Given the description of an element on the screen output the (x, y) to click on. 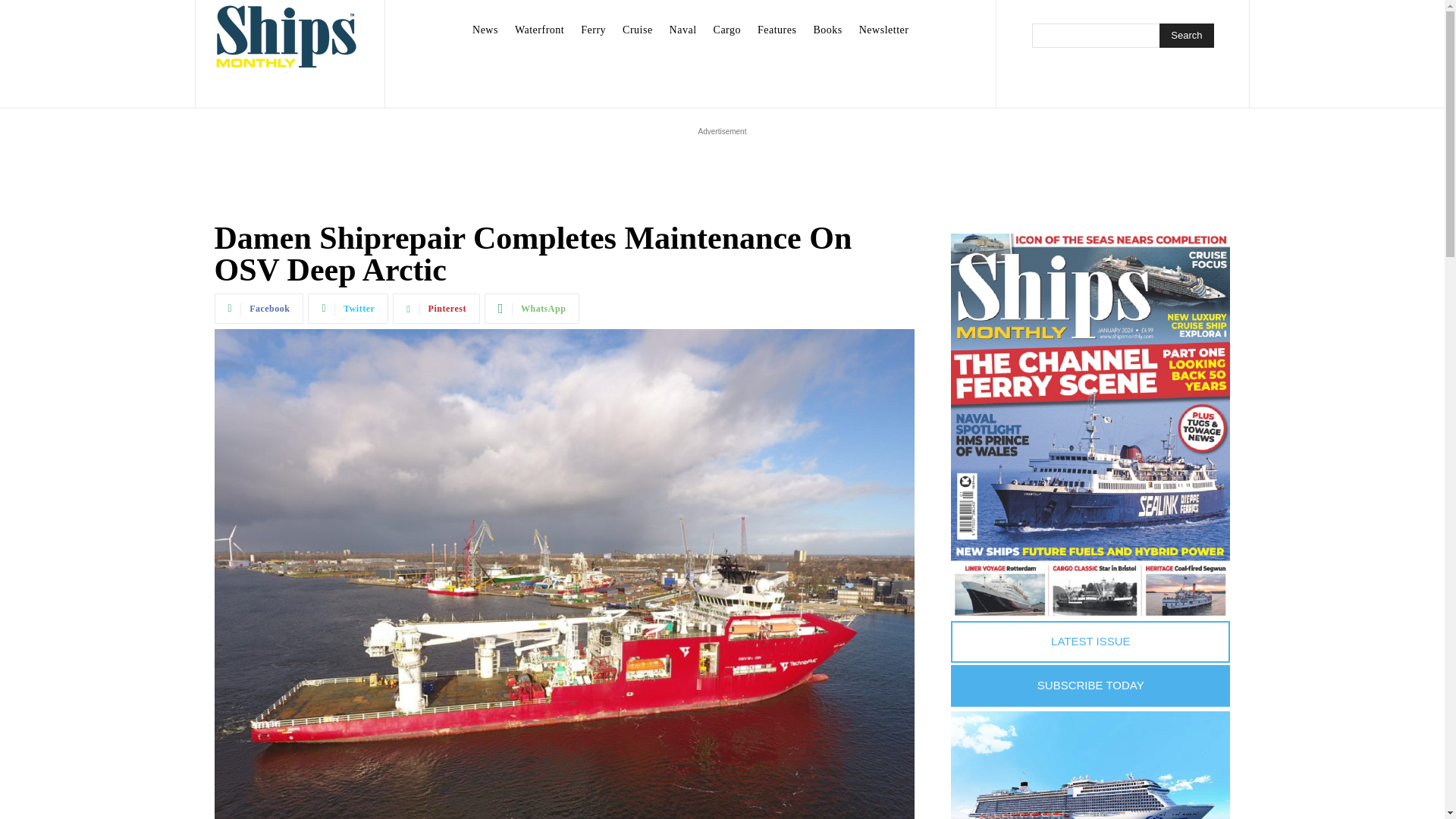
Search (1185, 35)
Waterfront (539, 30)
Cruise (637, 30)
Newsletter (884, 30)
Features (776, 30)
Naval (683, 30)
News (484, 30)
Pinterest (436, 308)
Cargo (727, 30)
Facebook (258, 308)
Twitter (347, 308)
Ferry (592, 30)
WhatsApp (531, 308)
Books (826, 30)
